Given the description of an element on the screen output the (x, y) to click on. 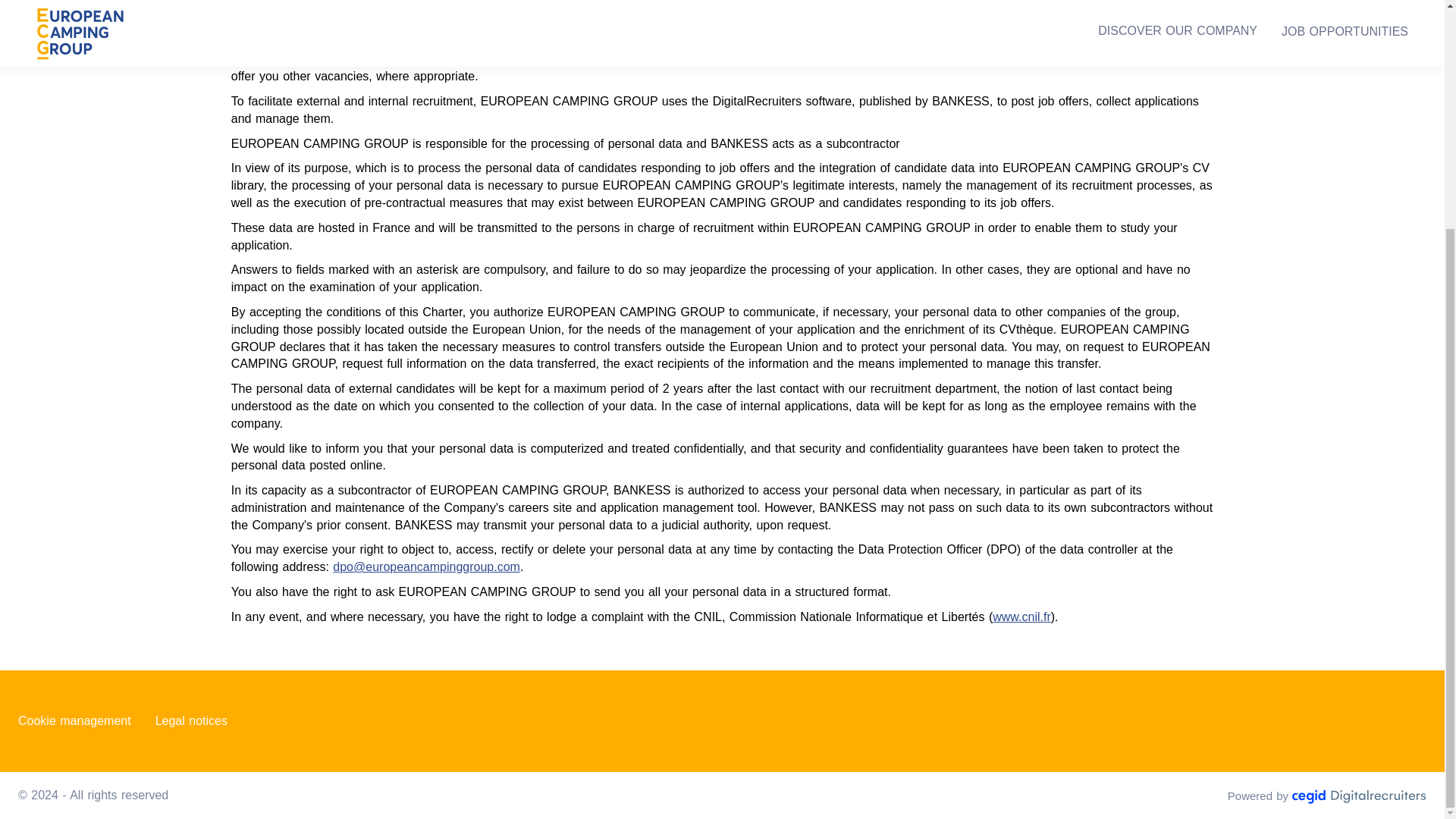
www.cnil.fr (1020, 616)
Cookie management (74, 721)
Legal notices (191, 721)
